Given the description of an element on the screen output the (x, y) to click on. 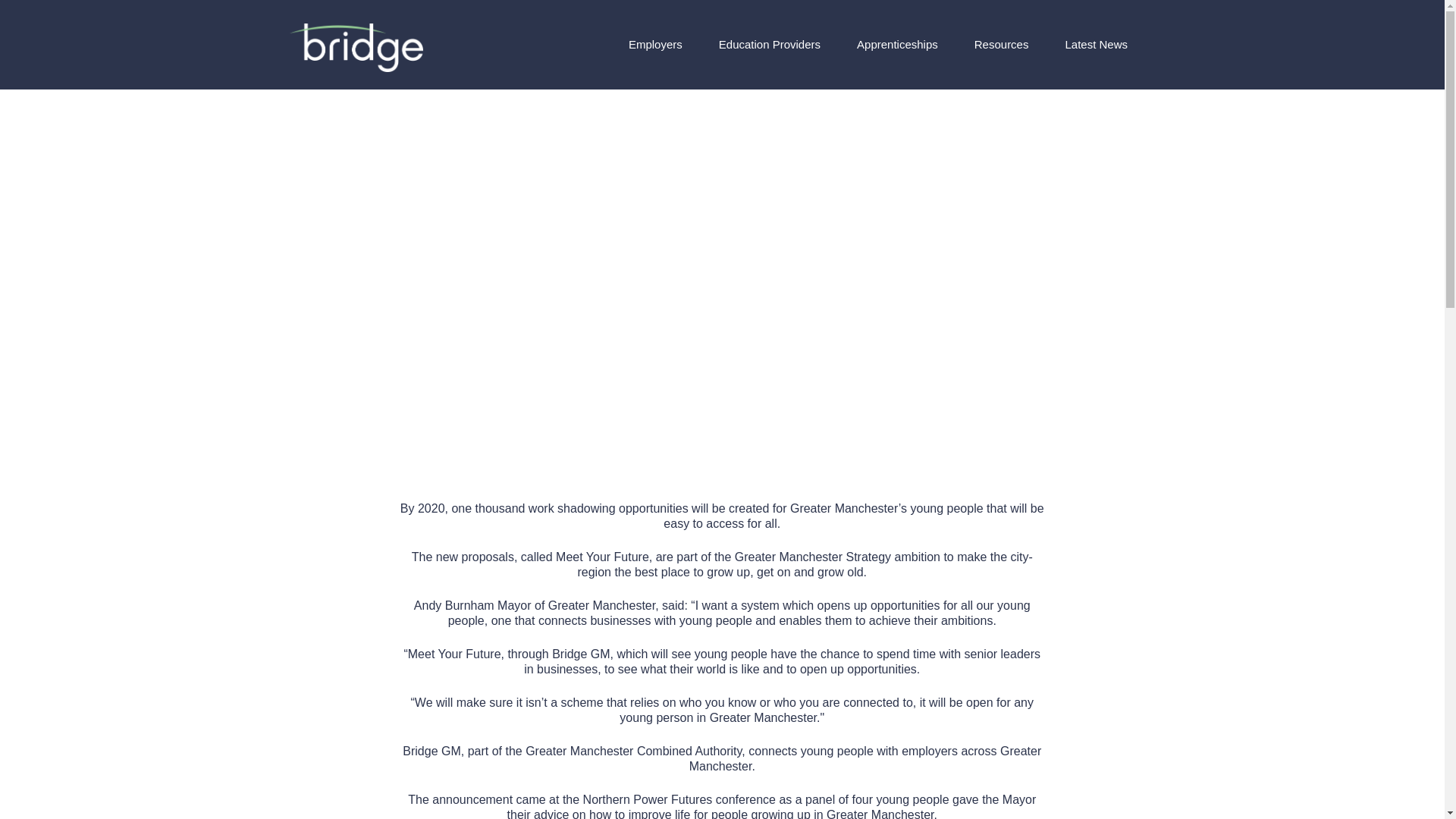
Apprenticeships (897, 44)
Employers (655, 44)
Education Providers (770, 44)
Resources (1001, 44)
Latest News (1095, 44)
